Given the description of an element on the screen output the (x, y) to click on. 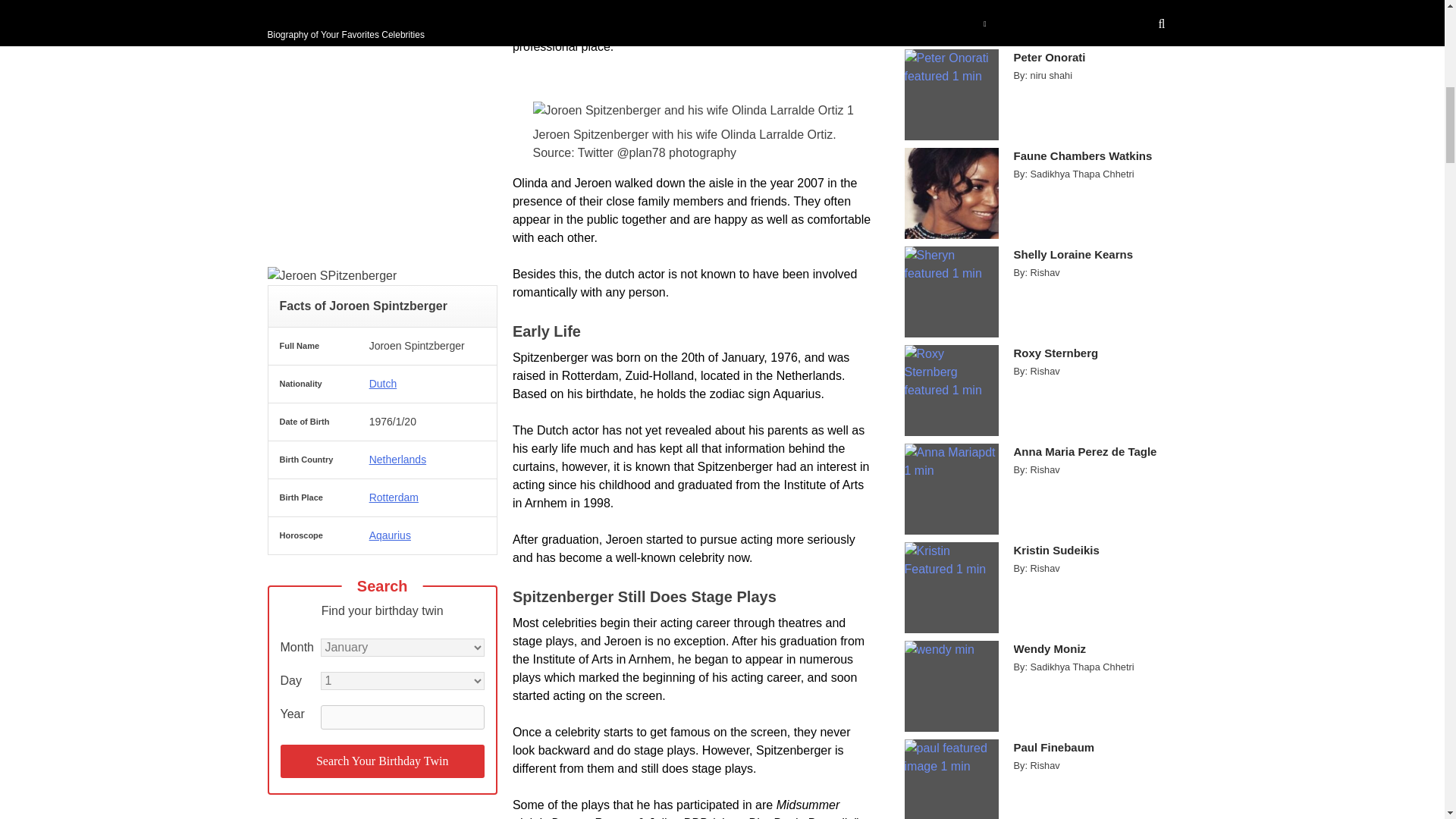
Jeroen Spitzenberger 2 (692, 110)
Lauren Mellor 13 (950, 20)
